Given the description of an element on the screen output the (x, y) to click on. 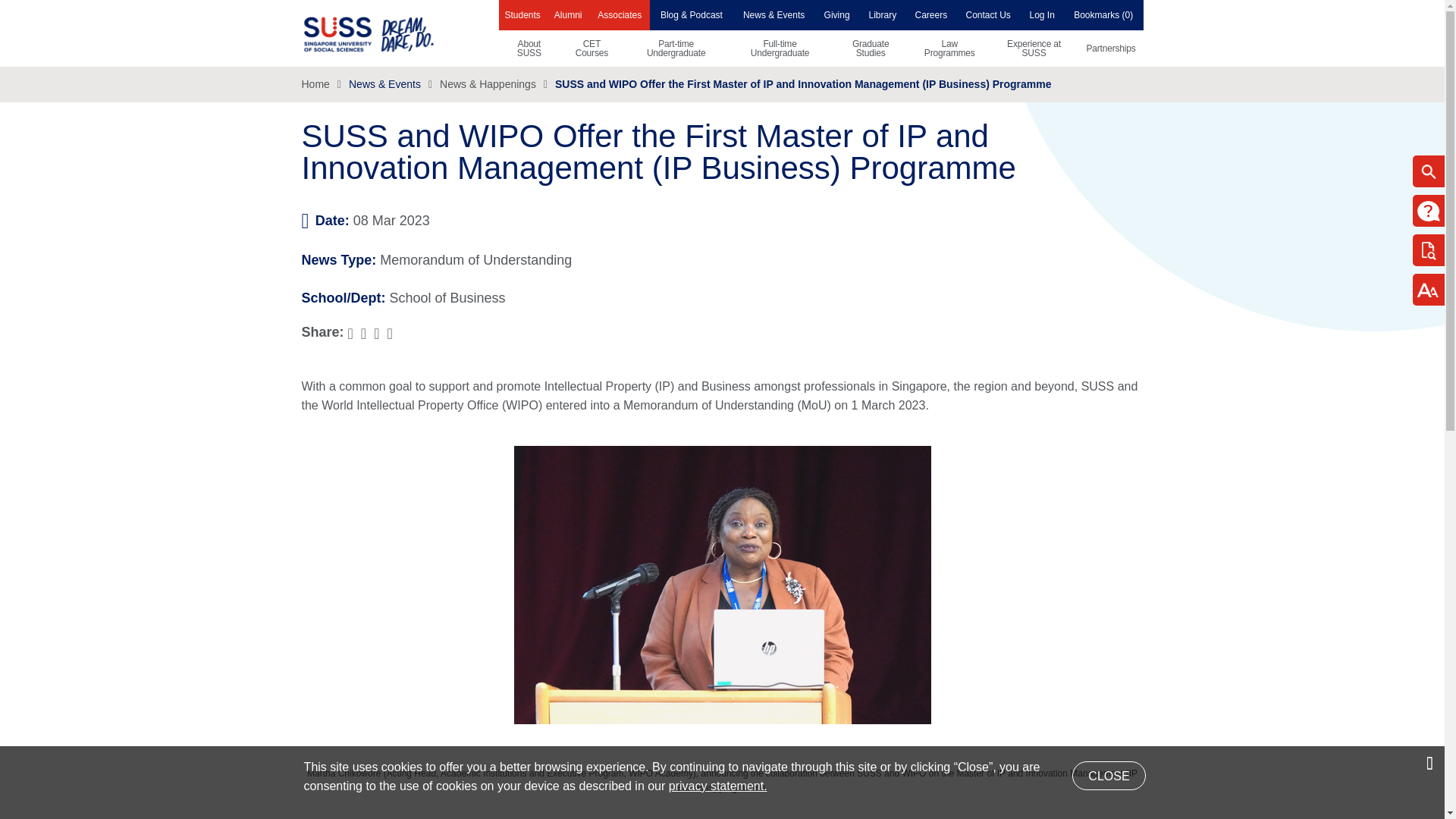
About SUSS (529, 48)
Singapore University of Social Sciences (394, 33)
About SUSS (529, 48)
